Given the description of an element on the screen output the (x, y) to click on. 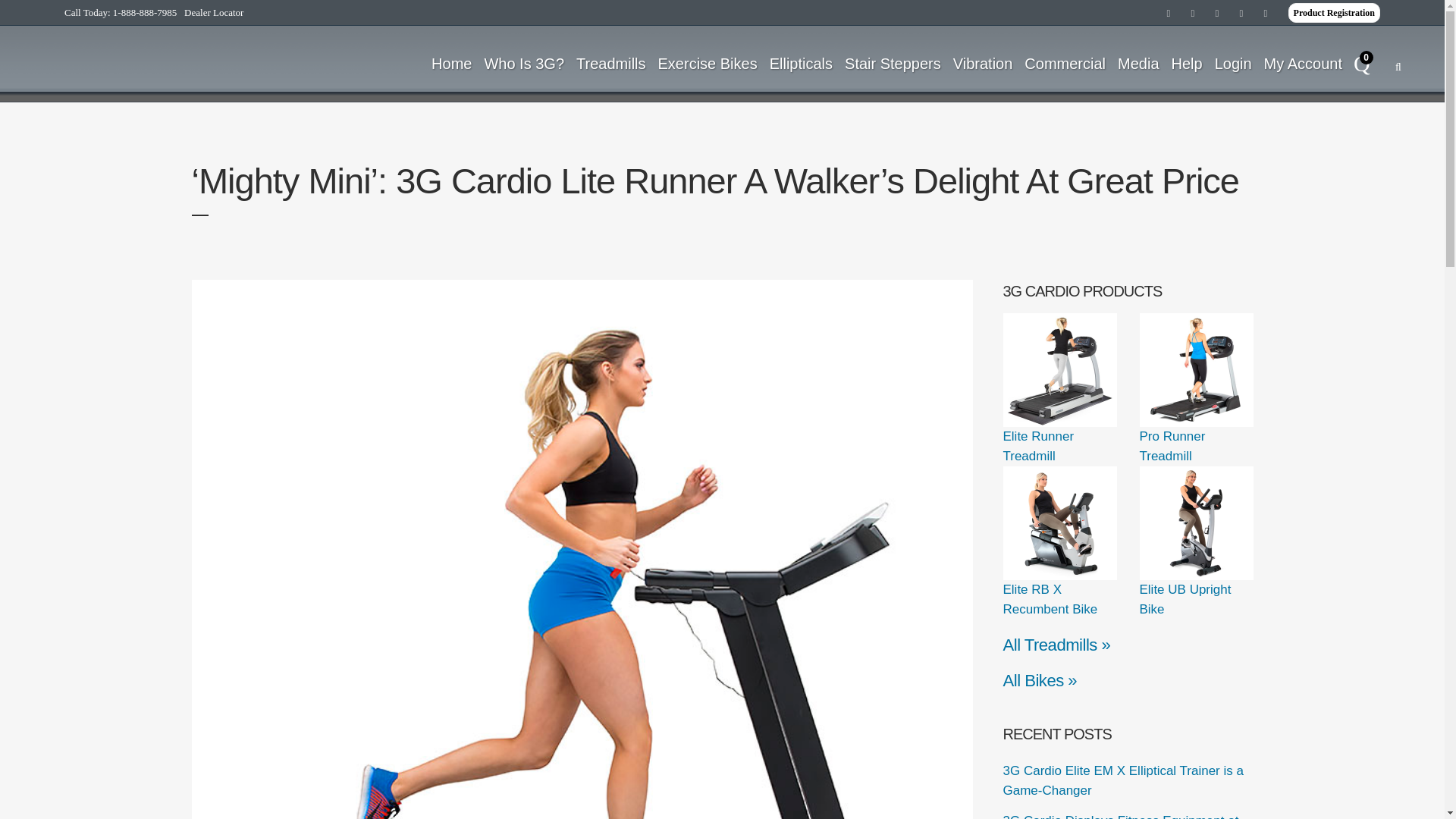
Dealer Locator (213, 12)
Vibration (983, 63)
Who Is 3G? (523, 63)
Product Registration (1334, 12)
Exercise Bikes (707, 63)
Treadmills (611, 63)
Call Today: 1-888-888-7985 (120, 12)
Stair Steppers (892, 63)
Ellipticals (800, 63)
Commercial (1064, 63)
